Given the description of an element on the screen output the (x, y) to click on. 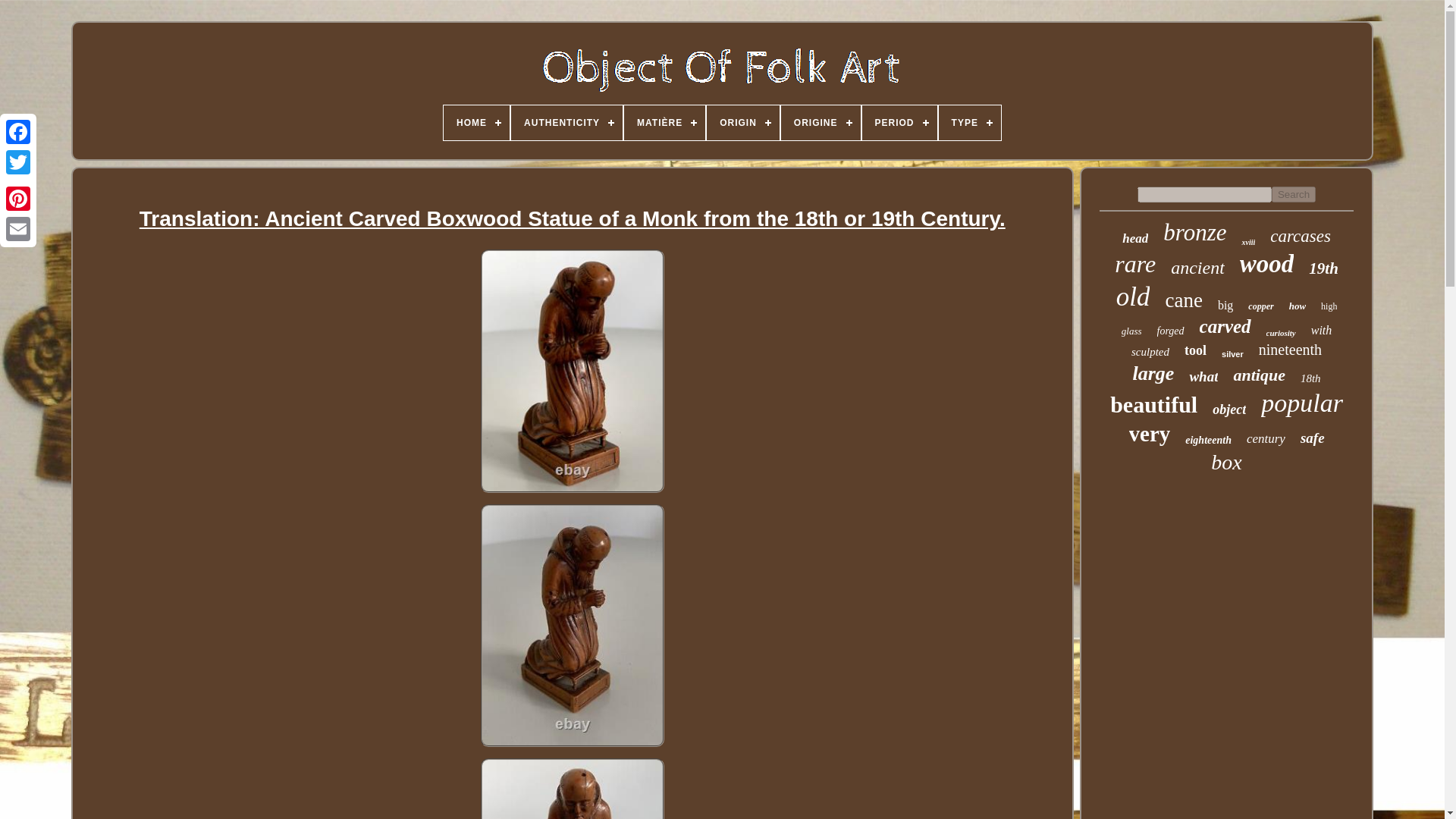
Twitter (17, 162)
HOME (476, 122)
Search (1293, 194)
AUTHENTICITY (567, 122)
ORIGIN (742, 122)
